Given the description of an element on the screen output the (x, y) to click on. 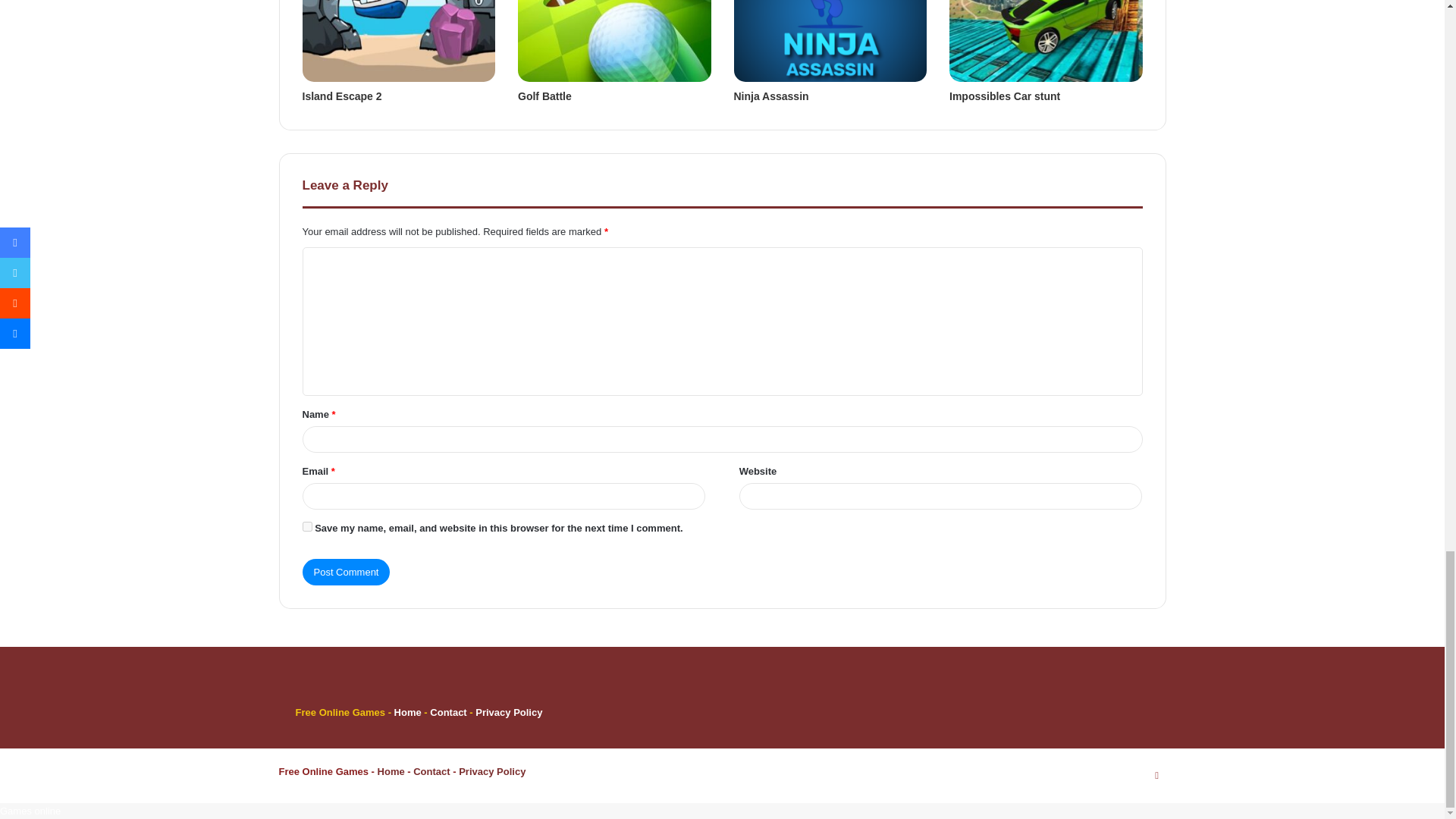
Ninja Assassin (771, 96)
Golf Battle (545, 96)
Post Comment (345, 571)
Contact (448, 712)
Post Comment (345, 571)
Home (408, 712)
Island Escape 2 (341, 96)
Impossibles Car stunt (1004, 96)
Privacy Policy (508, 712)
yes (306, 526)
